Given the description of an element on the screen output the (x, y) to click on. 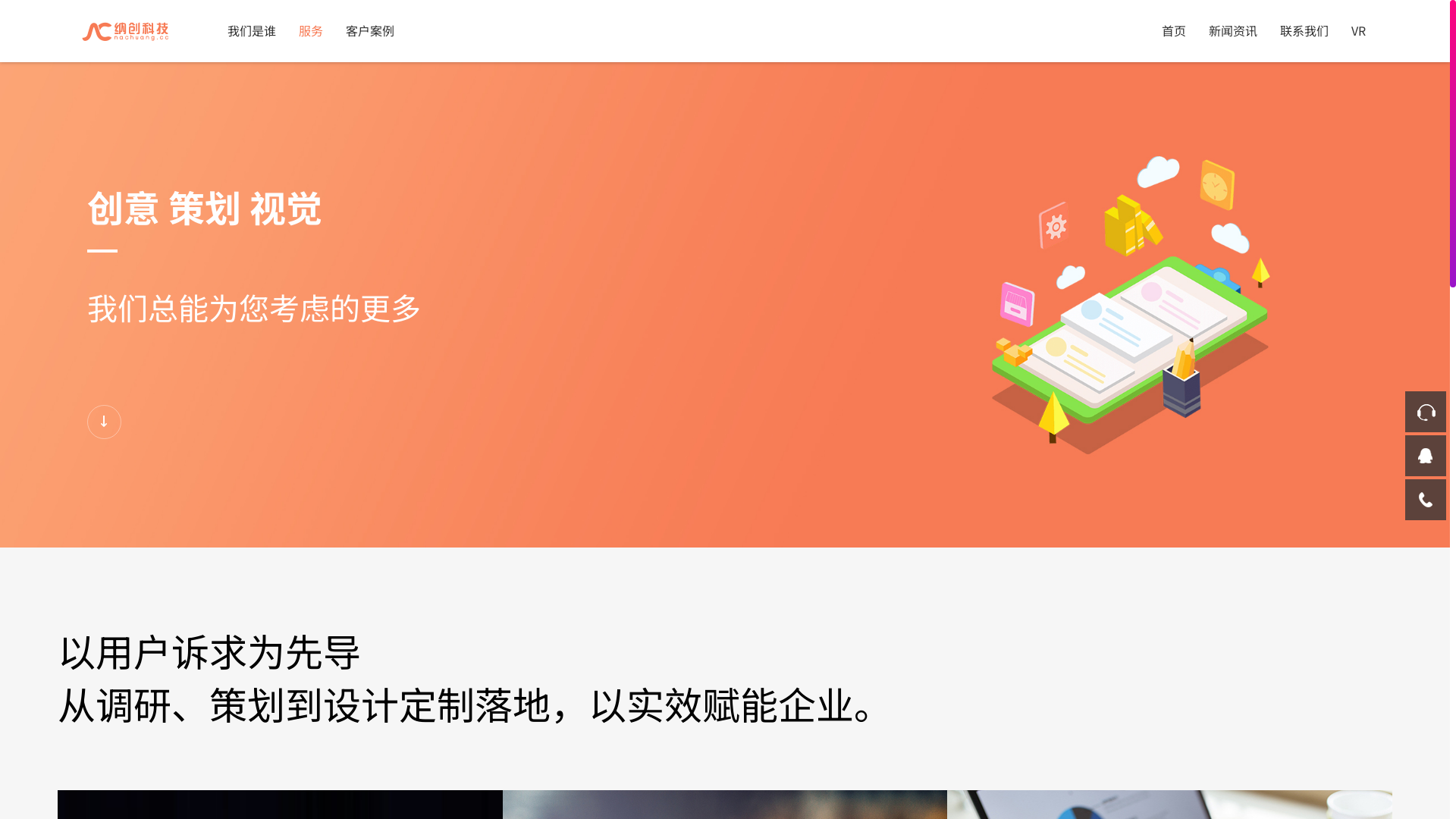
VR Element type: text (1358, 30)
